Given the description of an element on the screen output the (x, y) to click on. 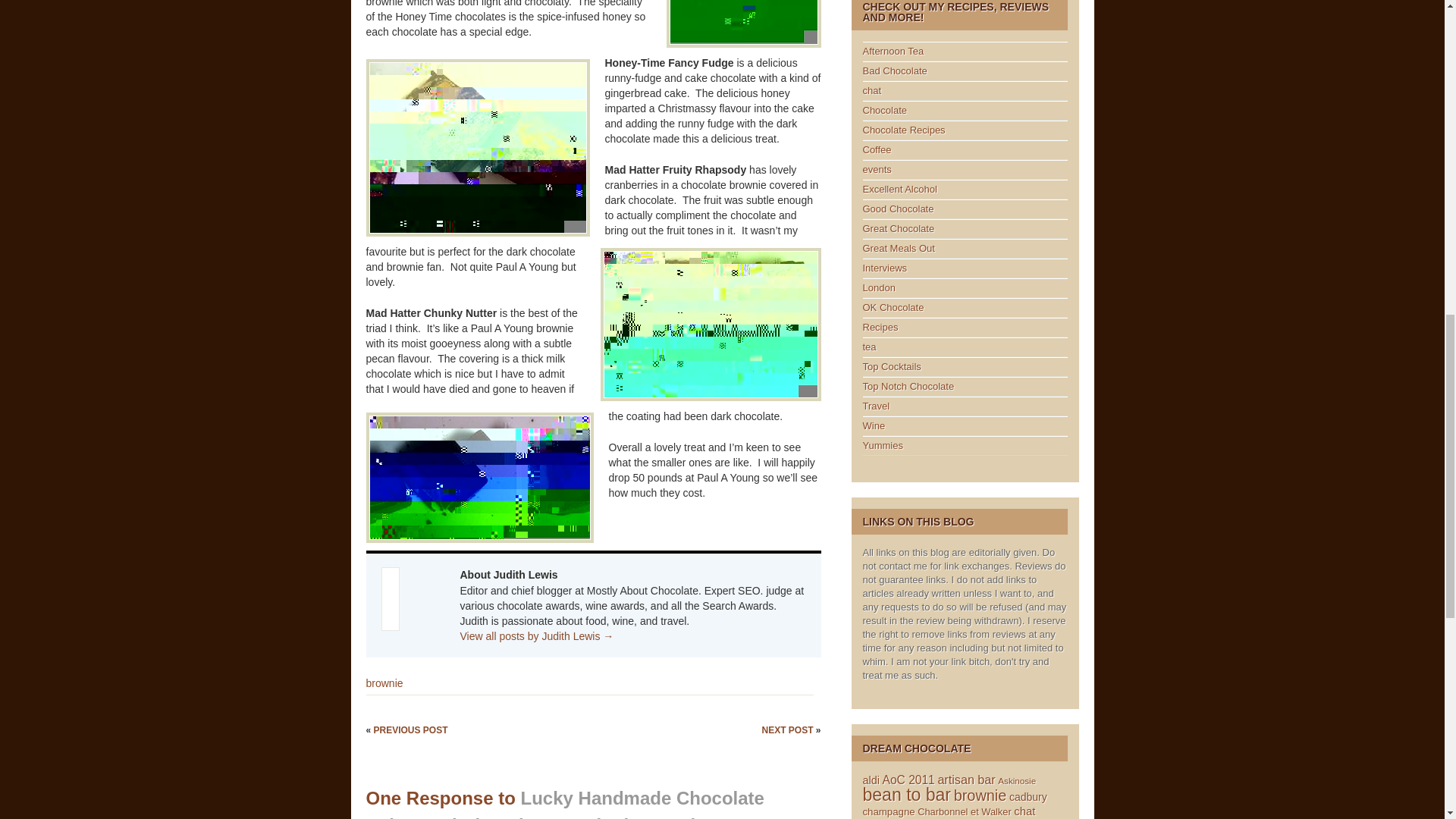
mad-hatter-fruity-rhapsody (710, 324)
Afternoon Tea (893, 50)
brownie (384, 683)
chat (872, 90)
Coffee (877, 149)
Bad Chocolate (895, 70)
Chocolate Recipes (903, 129)
honey time fancy fudge (477, 147)
luckys chocolate cakes (743, 23)
NEXT POST (788, 729)
Chocolate (885, 110)
mad hatter chunky nutter (478, 477)
PREVIOUS POST (411, 729)
